Given the description of an element on the screen output the (x, y) to click on. 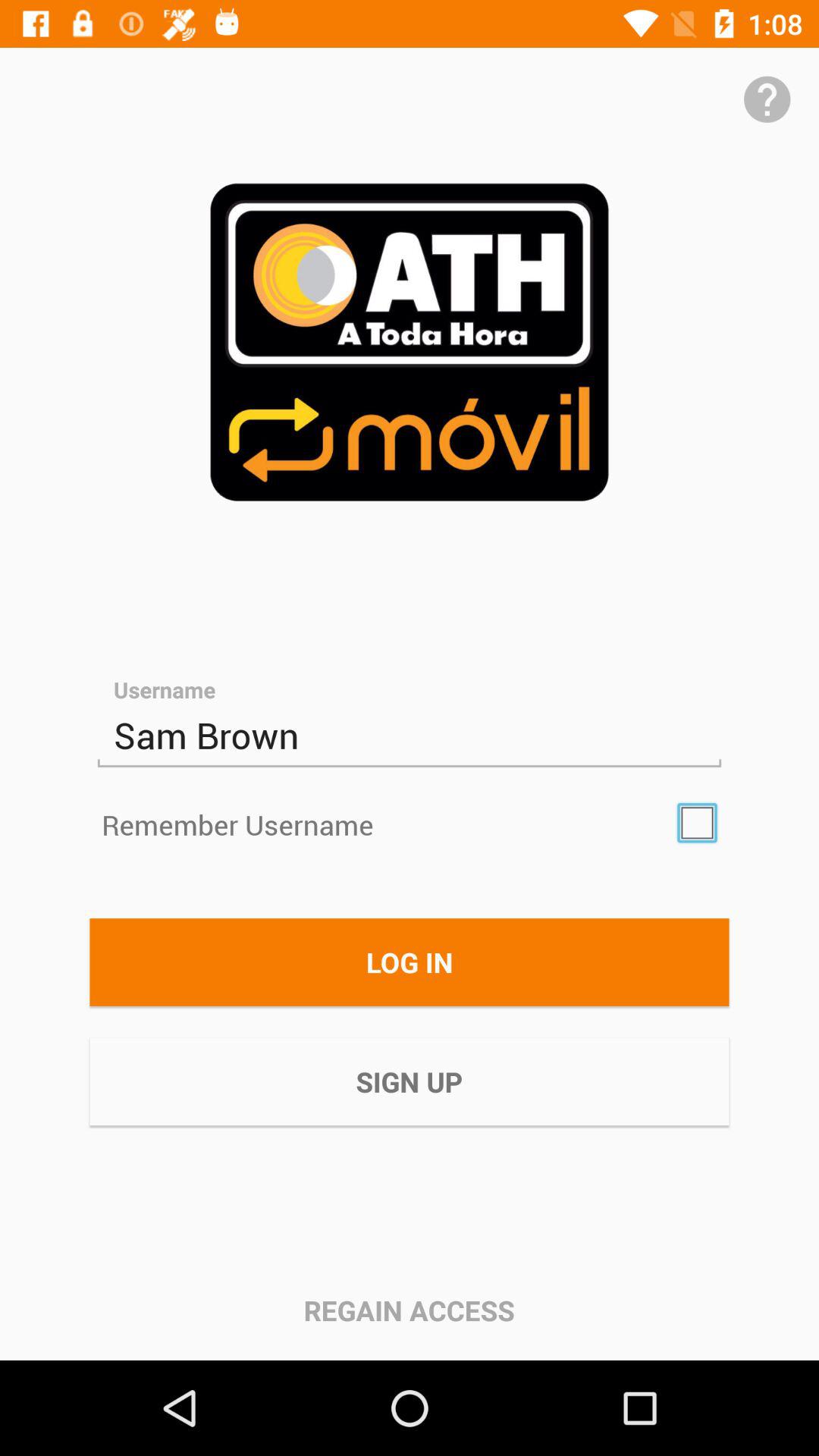
open the item below the sam brown item (697, 822)
